Given the description of an element on the screen output the (x, y) to click on. 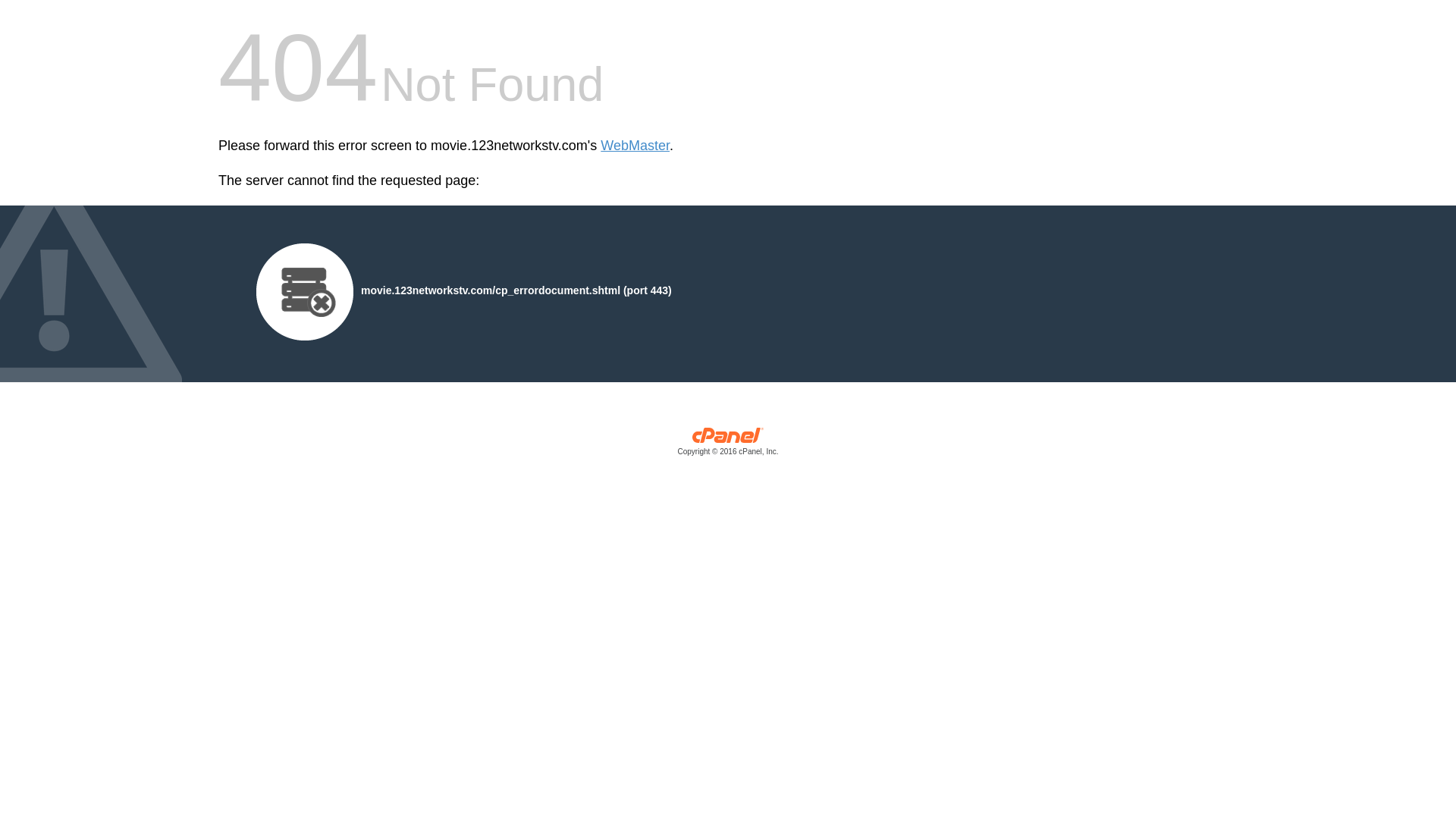
WebMaster Element type: text (634, 145)
